Given the description of an element on the screen output the (x, y) to click on. 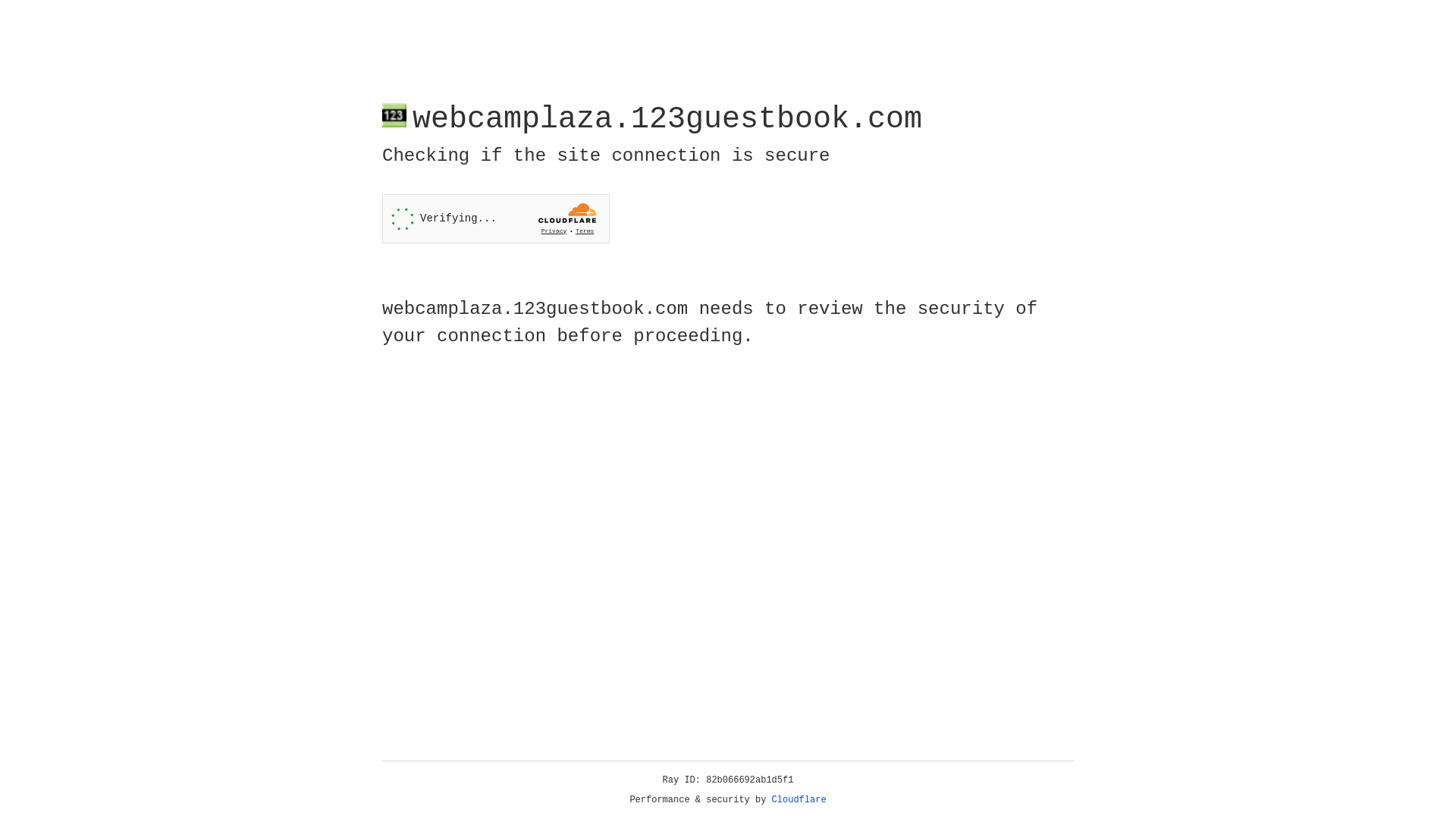
Cloudflare Element type: text (798, 799)
Widget containing a Cloudflare security challenge Element type: hover (495, 218)
